Given the description of an element on the screen output the (x, y) to click on. 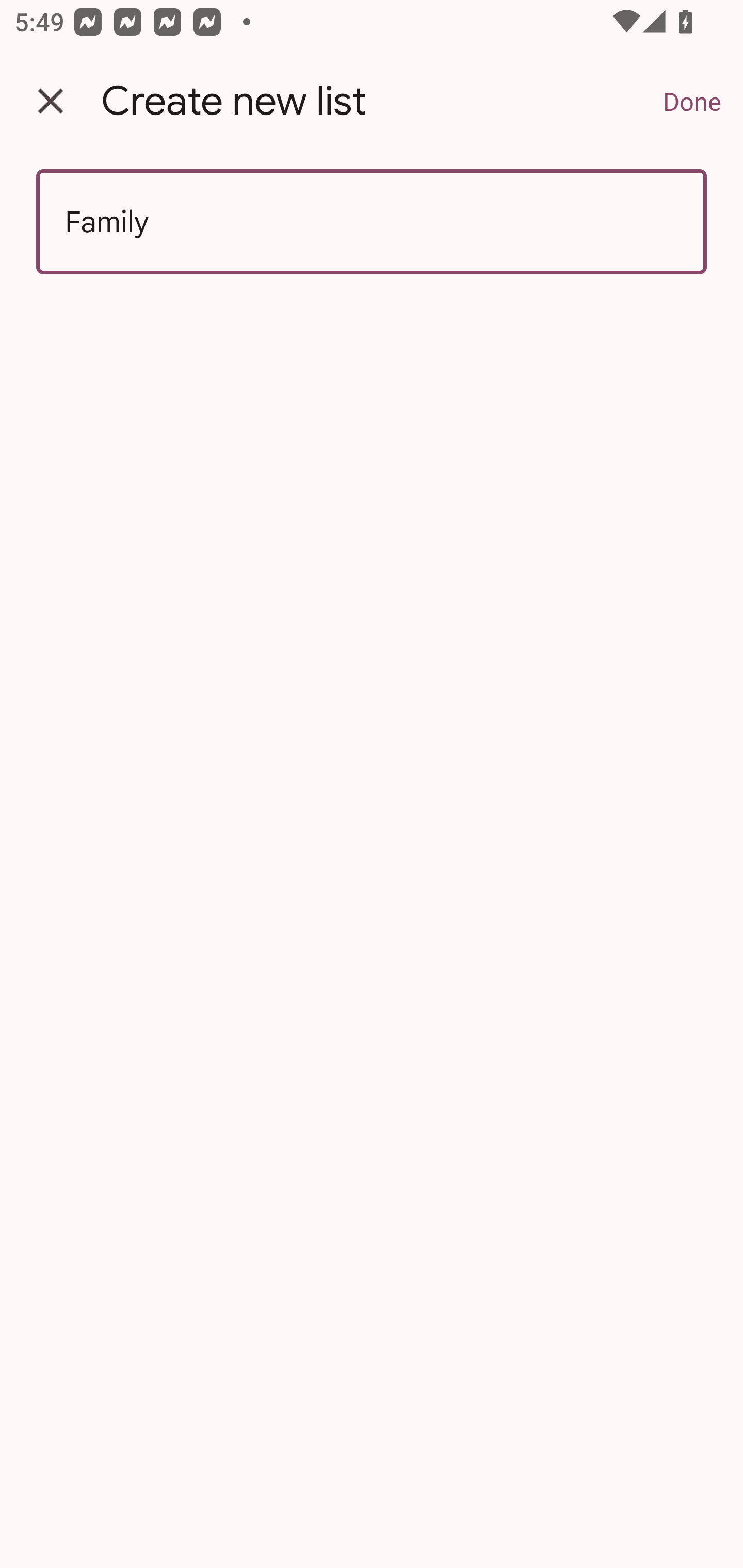
Back (50, 101)
Done (692, 101)
Family (371, 221)
